Given the description of an element on the screen output the (x, y) to click on. 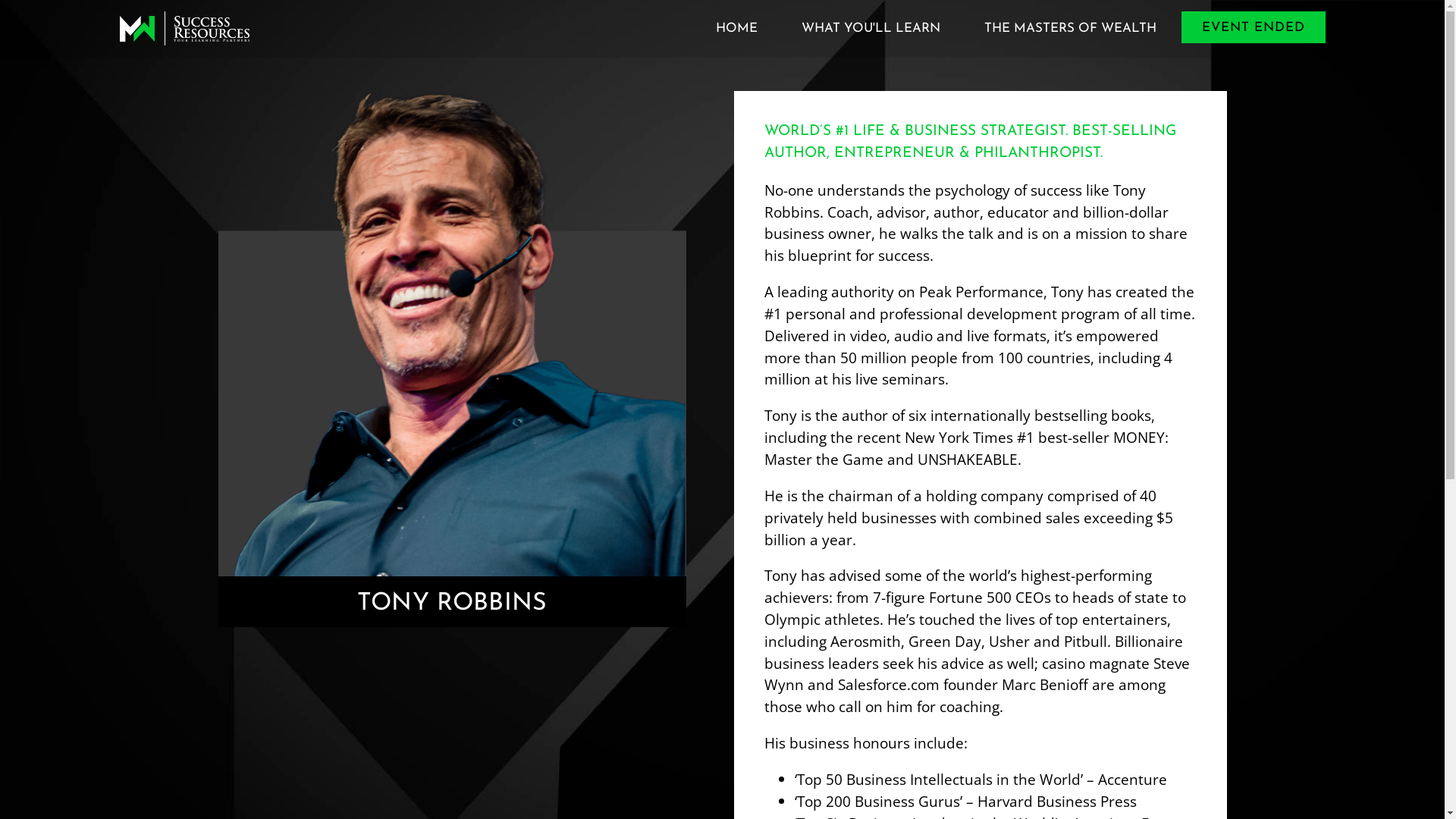
THE MASTERS OF WEALTH Element type: text (1069, 28)
  Element type: text (184, 28)
HOME Element type: text (735, 28)
EVENT ENDED Element type: text (1253, 27)
WHAT YOU'LL LEARN Element type: text (870, 28)
